Given the description of an element on the screen output the (x, y) to click on. 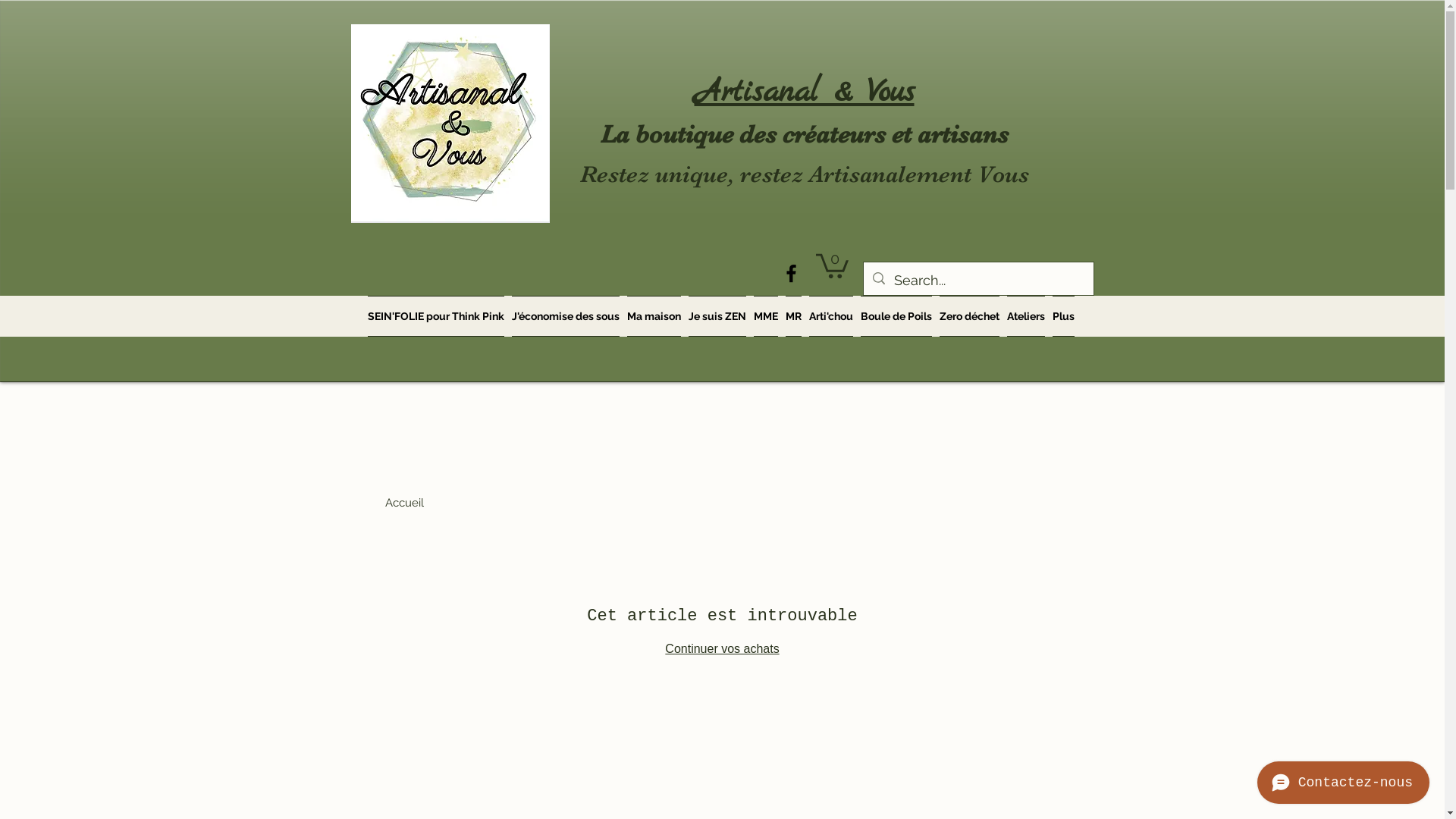
Artisanal & Vous Element type: text (804, 92)
MME Element type: text (765, 315)
Accueil Element type: text (404, 502)
MR Element type: text (792, 315)
Je suis ZEN Element type: text (716, 315)
Ateliers Element type: text (1025, 315)
Arti'chou Element type: text (830, 315)
Boule de Poils Element type: text (895, 315)
SEIN'FOLIE pour Think Pink Element type: text (437, 315)
Ma maison Element type: text (653, 315)
Continuer vos achats Element type: text (721, 648)
0 Element type: text (831, 264)
